Given the description of an element on the screen output the (x, y) to click on. 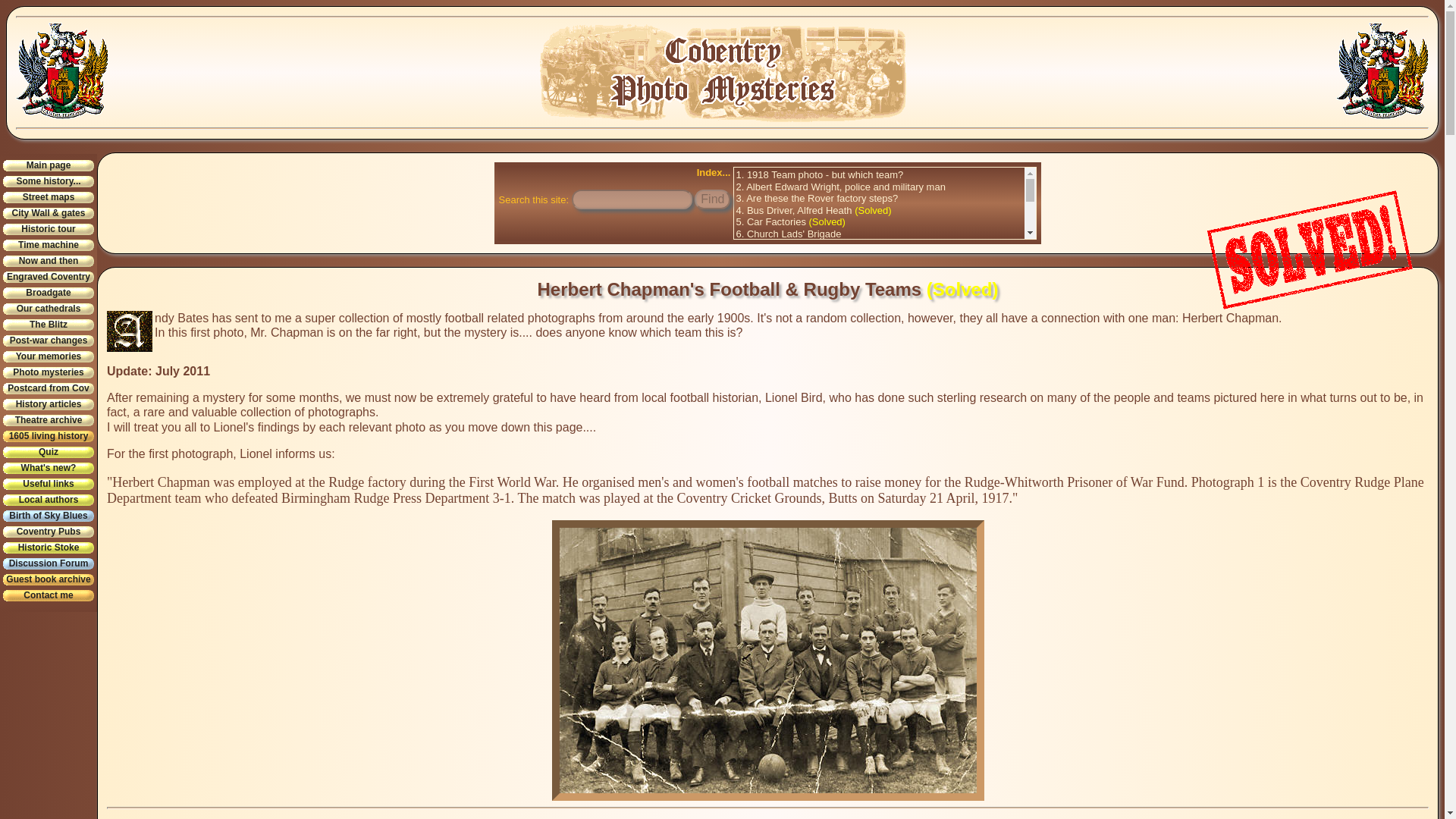
Opens up another website (48, 547)
Solved! (1310, 249)
Historic tour (48, 229)
Street maps (48, 197)
Broadgate (48, 292)
Find (712, 199)
Your memories (48, 356)
Football Team Photo (767, 660)
Historic Coventry Home (1382, 70)
Engraved Coventry (48, 276)
Historic Coventry Home (61, 70)
Some history... (48, 181)
The Blitz (48, 324)
Opens up another website (48, 563)
A (129, 331)
